Given the description of an element on the screen output the (x, y) to click on. 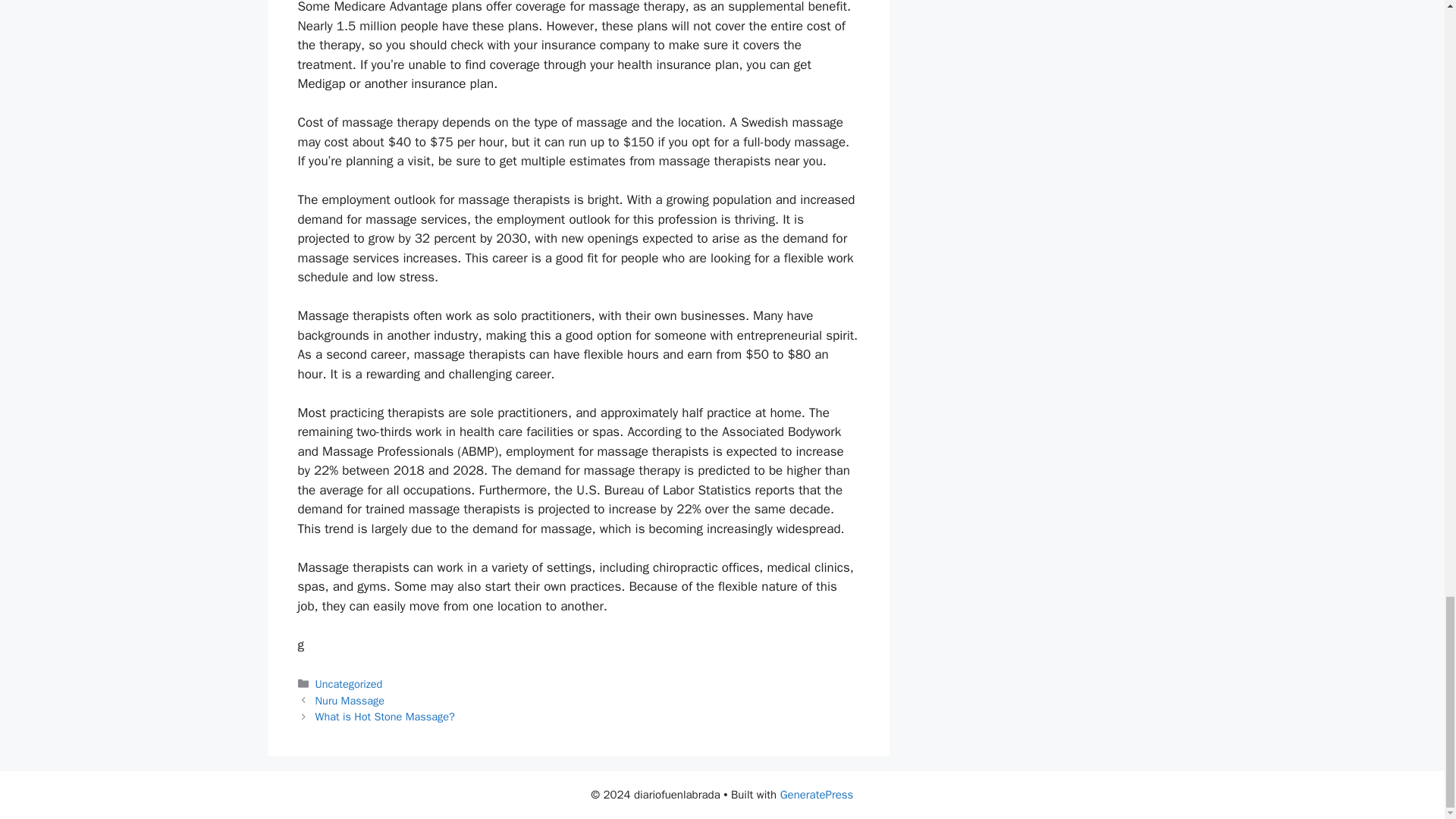
GeneratePress (816, 794)
What is Hot Stone Massage? (384, 716)
Uncategorized (348, 684)
Nuru Massage (349, 700)
